Given the description of an element on the screen output the (x, y) to click on. 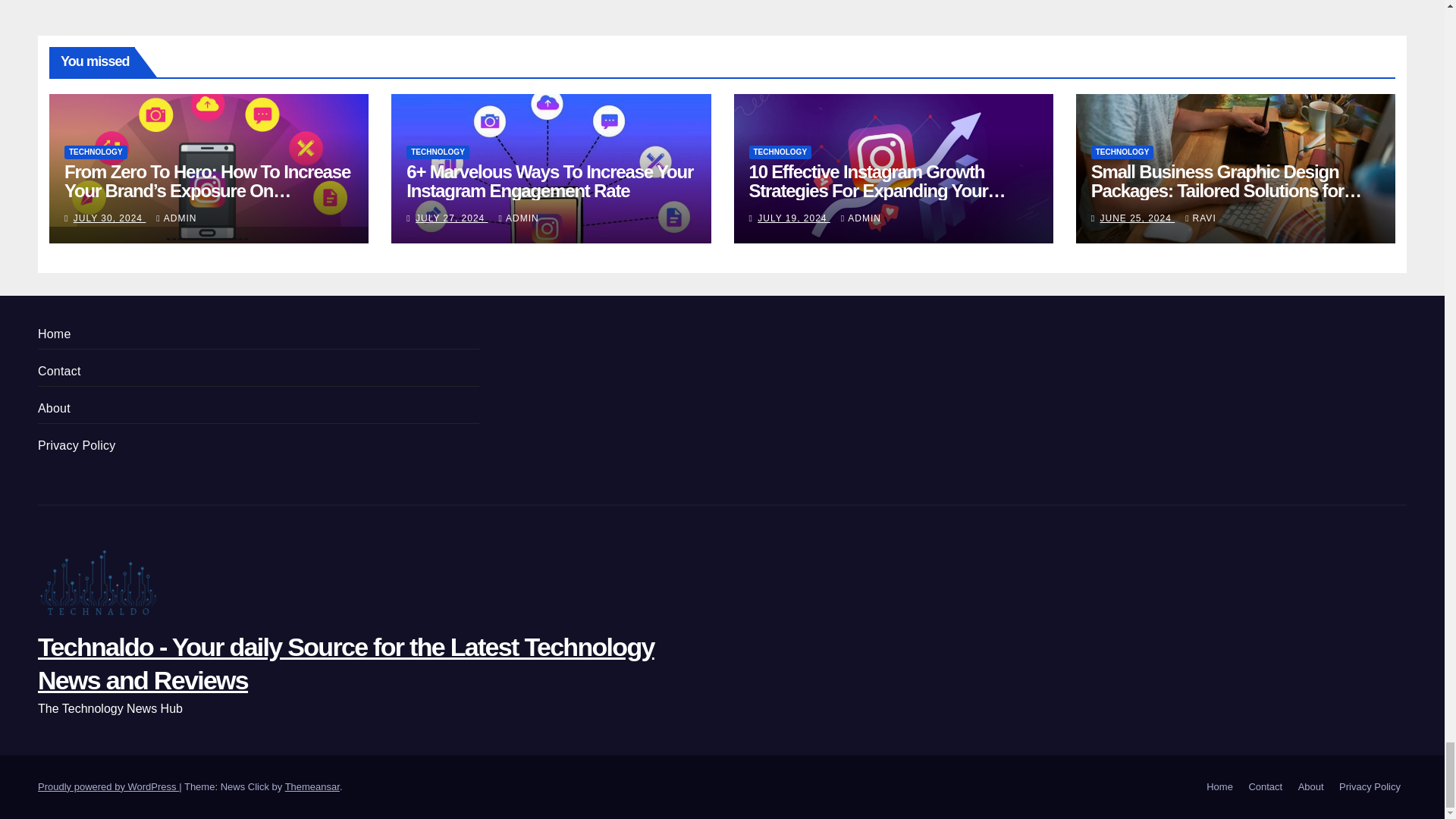
Home (1219, 786)
